Given the description of an element on the screen output the (x, y) to click on. 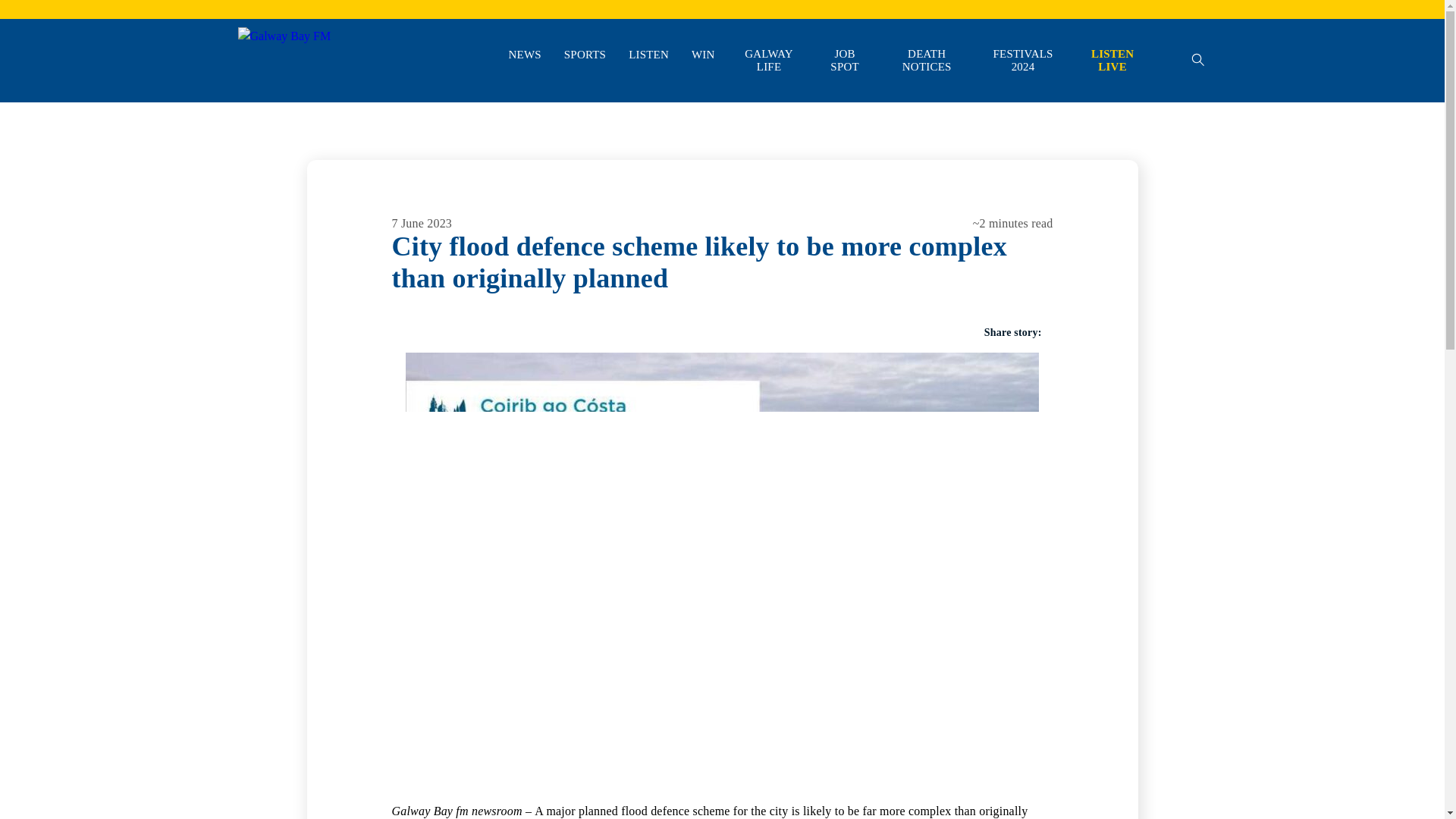
WIN (702, 54)
LISTEN (648, 54)
GALWAY LIFE (769, 60)
Galway Bay FM (279, 112)
FESTIVALS 2024 (1023, 60)
JOB SPOT (844, 60)
LISTEN LIVE (1111, 60)
SPORTS (584, 54)
DEATH NOTICES (926, 60)
NEWS (524, 54)
